Given the description of an element on the screen output the (x, y) to click on. 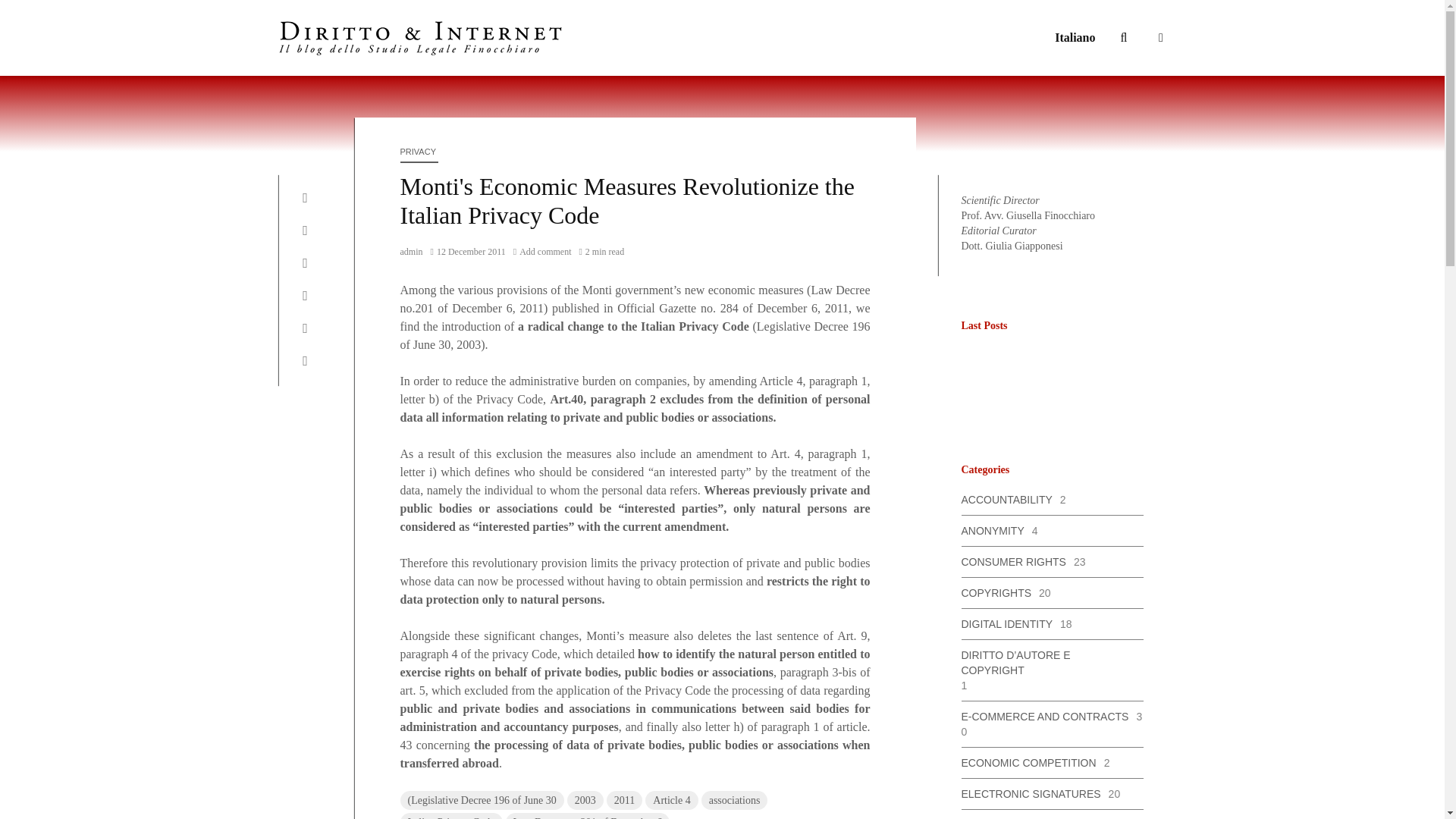
Add comment (542, 251)
PRIVACY (422, 152)
Italiano (1074, 37)
Italiano (1074, 37)
associations (734, 800)
2011 (624, 800)
admin (411, 251)
2003 (585, 800)
Article 4 (671, 800)
Law Decree no.201 of December 6 (587, 816)
